Given the description of an element on the screen output the (x, y) to click on. 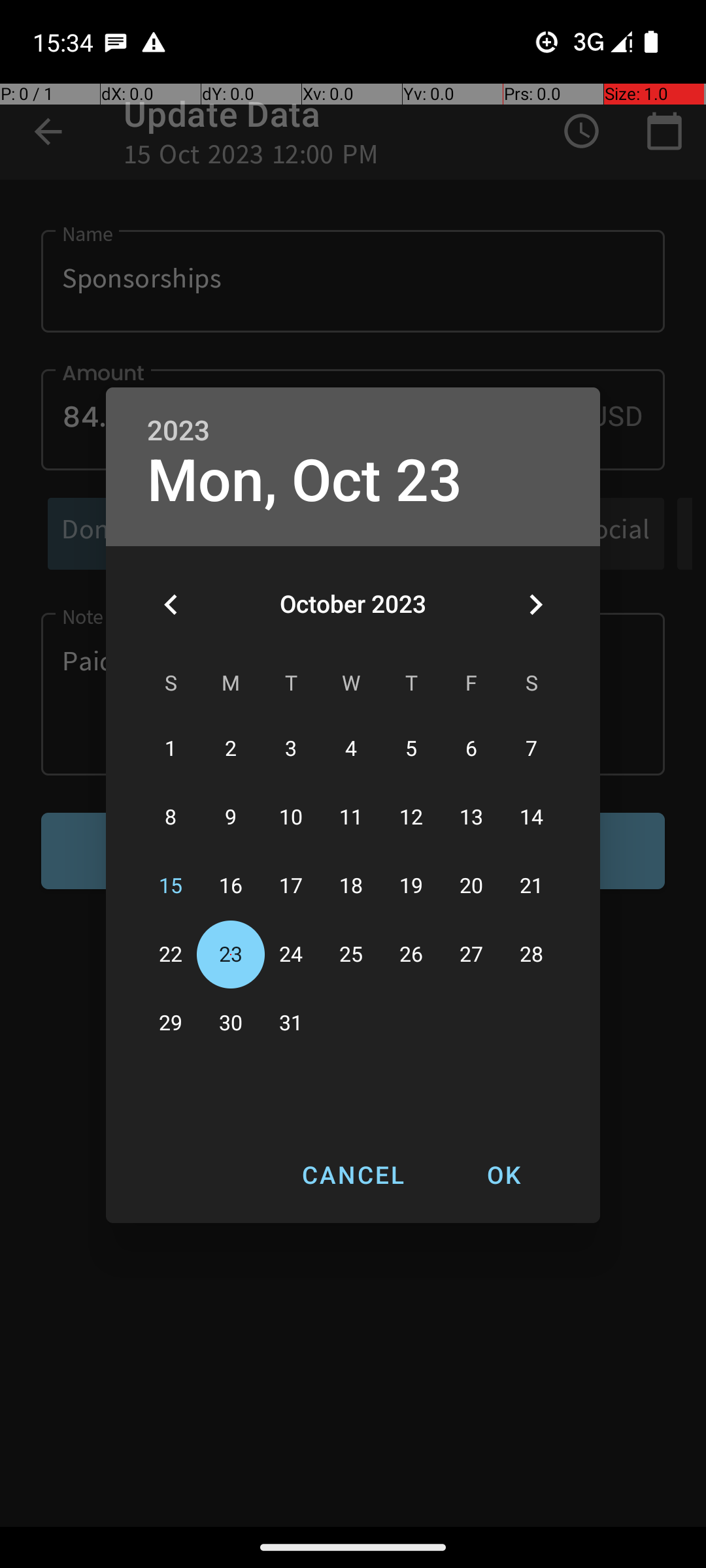
Mon, Oct 23 Element type: android.widget.TextView (304, 480)
